Given the description of an element on the screen output the (x, y) to click on. 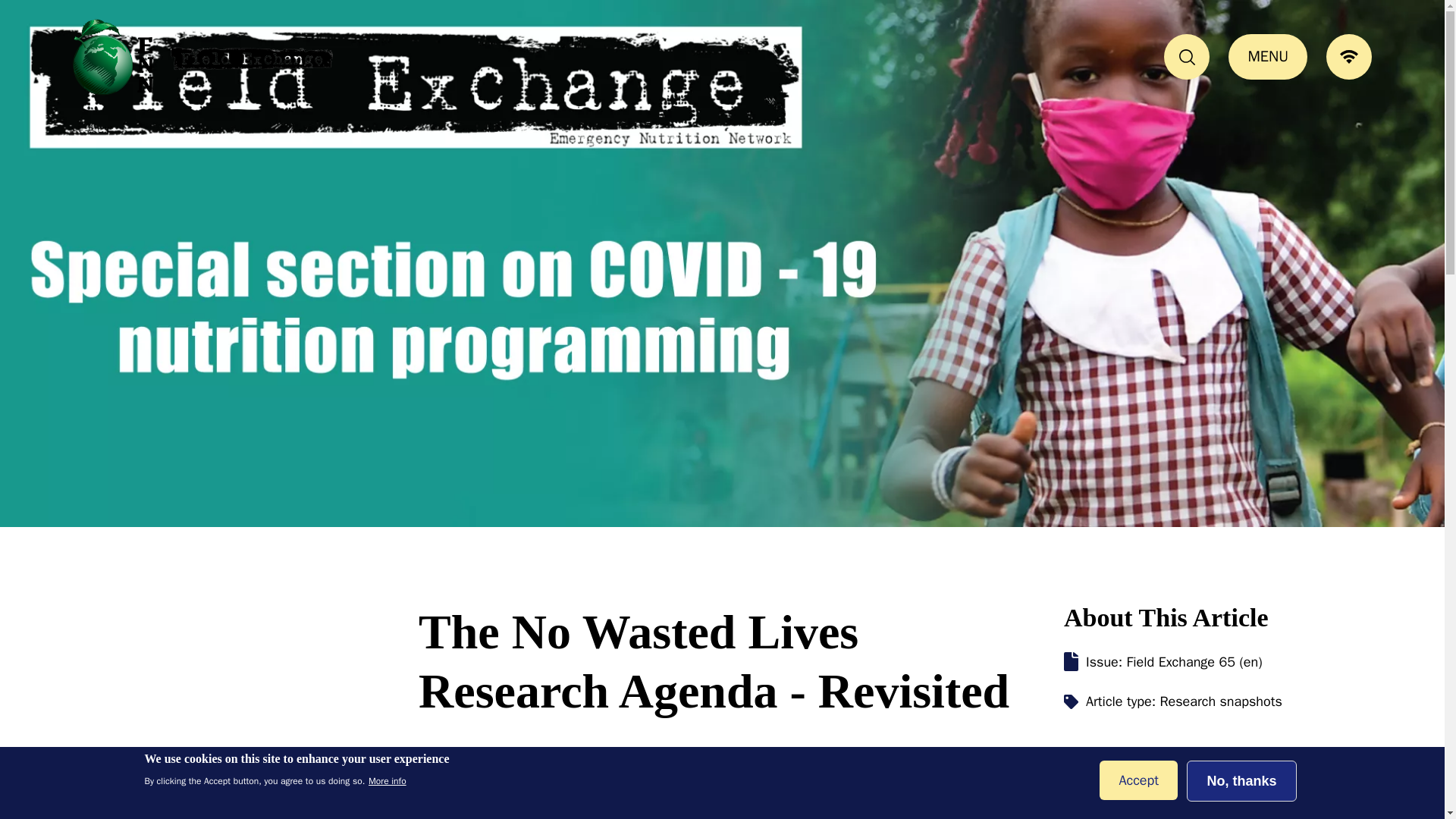
ENN Logo (202, 56)
Apply (64, 26)
en (38, 781)
